Given the description of an element on the screen output the (x, y) to click on. 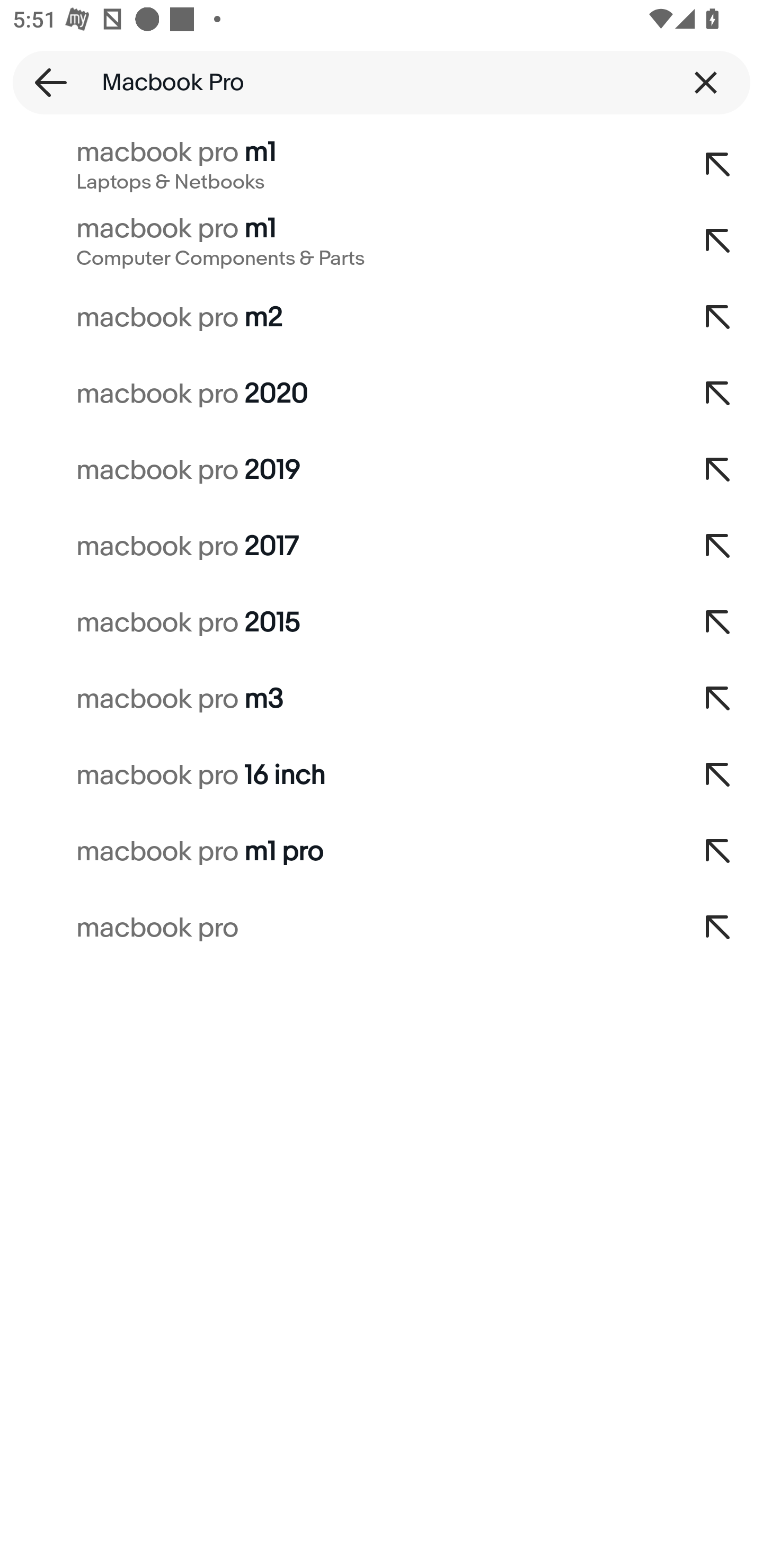
Back (44, 82)
Clear query (705, 82)
Macbook Pro (381, 82)
macbook pro m1
Laptops & Netbooks (336, 165)
macbook pro m1
Computer Components & Parts (336, 241)
macbook pro m2 (336, 317)
Add to search query,macbook pro m2 (718, 317)
macbook pro 2020 (336, 393)
Add to search query,macbook pro 2020 (718, 393)
macbook pro 2019 (336, 470)
Add to search query,macbook pro 2019 (718, 470)
macbook pro 2017 (336, 546)
Add to search query,macbook pro 2017 (718, 546)
macbook pro 2015 (336, 622)
Add to search query,macbook pro 2015 (718, 622)
macbook pro m3 (336, 698)
Add to search query,macbook pro m3 (718, 698)
macbook pro 16 inch (336, 774)
Add to search query,macbook pro 16 inch (718, 774)
macbook pro m1 pro (336, 851)
Add to search query,macbook pro m1 pro (718, 851)
macbook pro (336, 927)
Add to search query,macbook pro (718, 927)
